Given the description of an element on the screen output the (x, y) to click on. 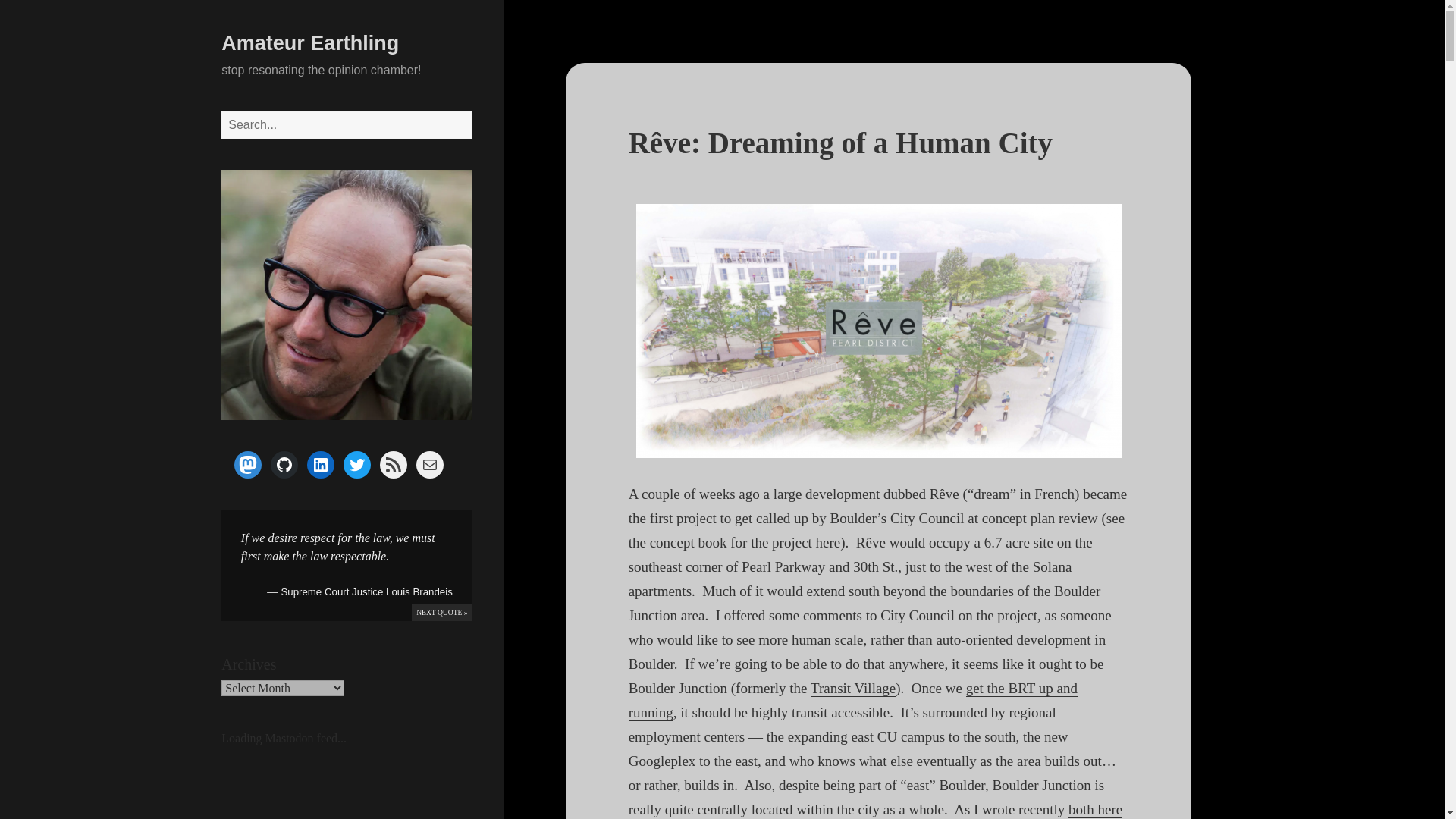
Amateur Earthling (309, 42)
Zane Selvans on Mastodon (248, 464)
Zane Selvans on LinkedIn (320, 464)
Thoughts on the TVAP and Junction Place Village (852, 688)
both here (1095, 809)
get the BRT up and running (852, 700)
Zane Selvans on GitHub (284, 464)
Cities Without Traffic (1095, 809)
Zane Selvans on Twitter (357, 464)
Email Zane Selvans (430, 464)
Amateur Earthling RSS Feed (393, 464)
US-36: For Whom the Road Tolls (852, 700)
Transit Village (852, 688)
concept book for the project here (745, 542)
